Given the description of an element on the screen output the (x, y) to click on. 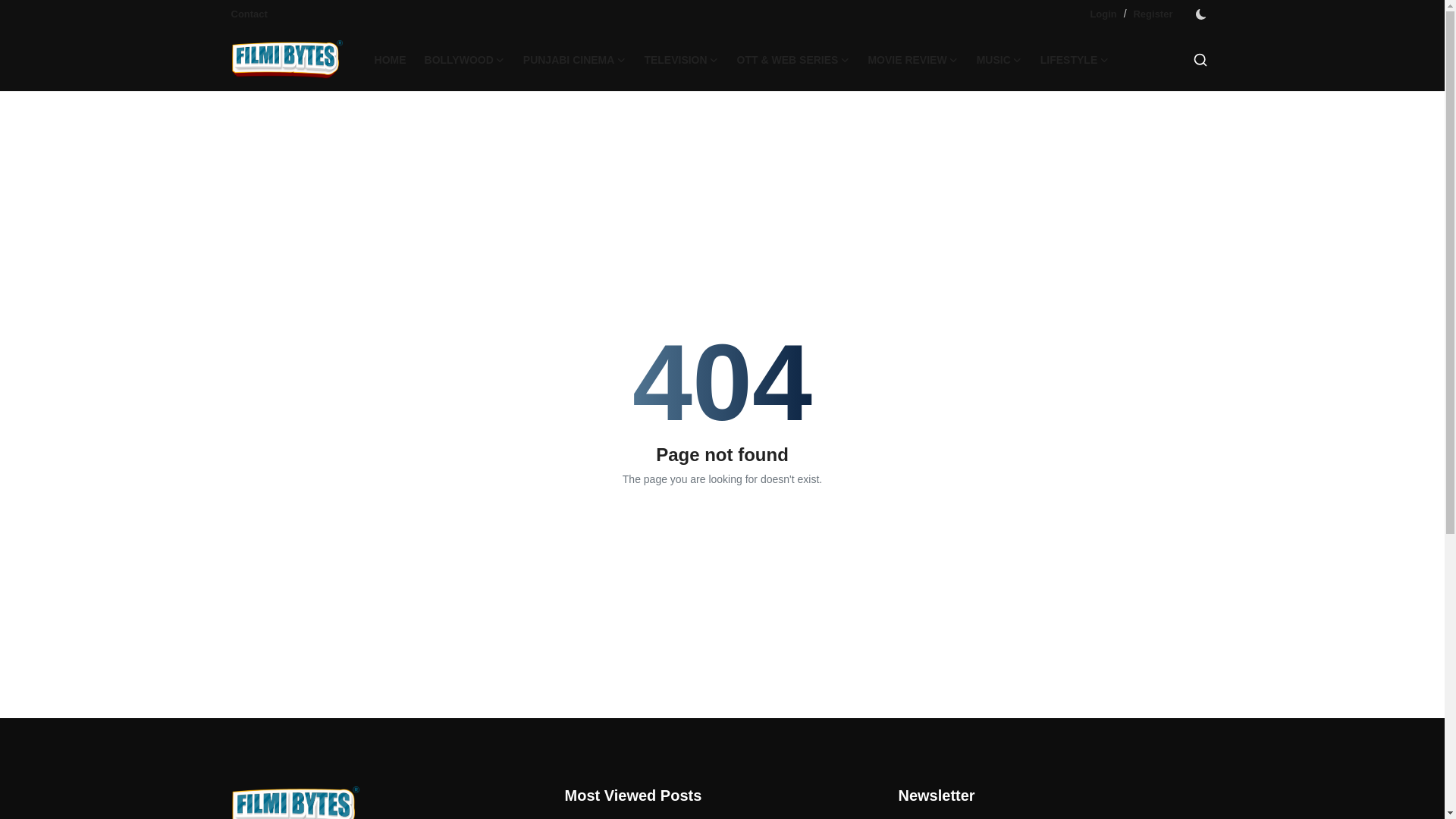
Login (1102, 14)
dark (1200, 14)
MUSIC (999, 59)
LIFESTYLE (1074, 59)
BOLLYWOOD (463, 59)
MOVIE REVIEW (912, 59)
Register (1152, 14)
PUNJABI CINEMA (573, 59)
TELEVISION (680, 59)
Contact (248, 14)
